Given the description of an element on the screen output the (x, y) to click on. 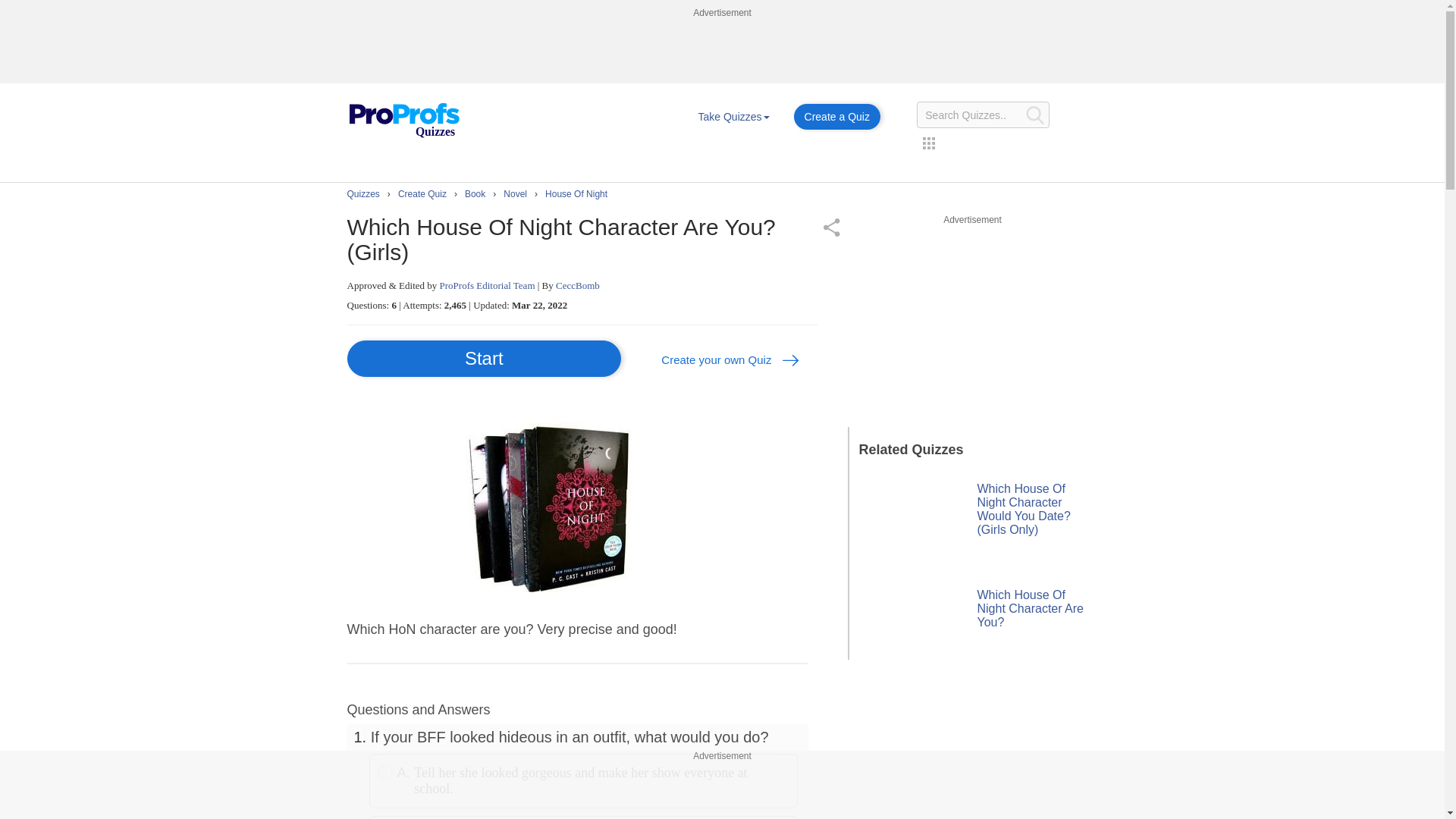
Create a Quiz (836, 116)
Quizzes (403, 109)
Take Quizzes (733, 116)
Browse (733, 116)
on (385, 772)
Quizzes (403, 120)
